Given the description of an element on the screen output the (x, y) to click on. 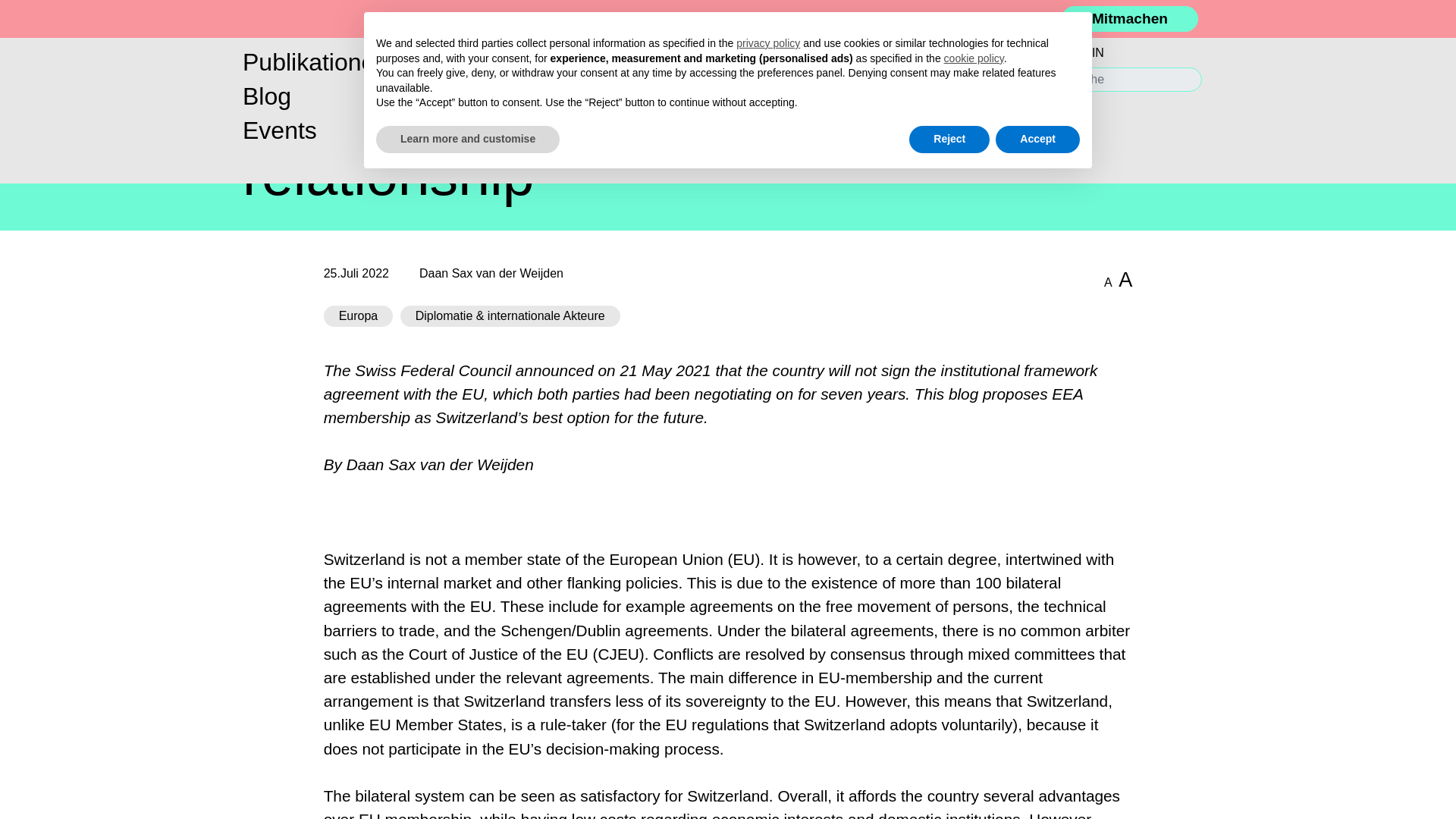
Blog (401, 96)
Publikationen (401, 62)
Kontakt (970, 131)
Projekte (730, 96)
Menschen (730, 62)
Presse (970, 76)
Menschen (730, 62)
Europa (358, 316)
Events (401, 130)
Offene Stellen (970, 113)
